Given the description of an element on the screen output the (x, y) to click on. 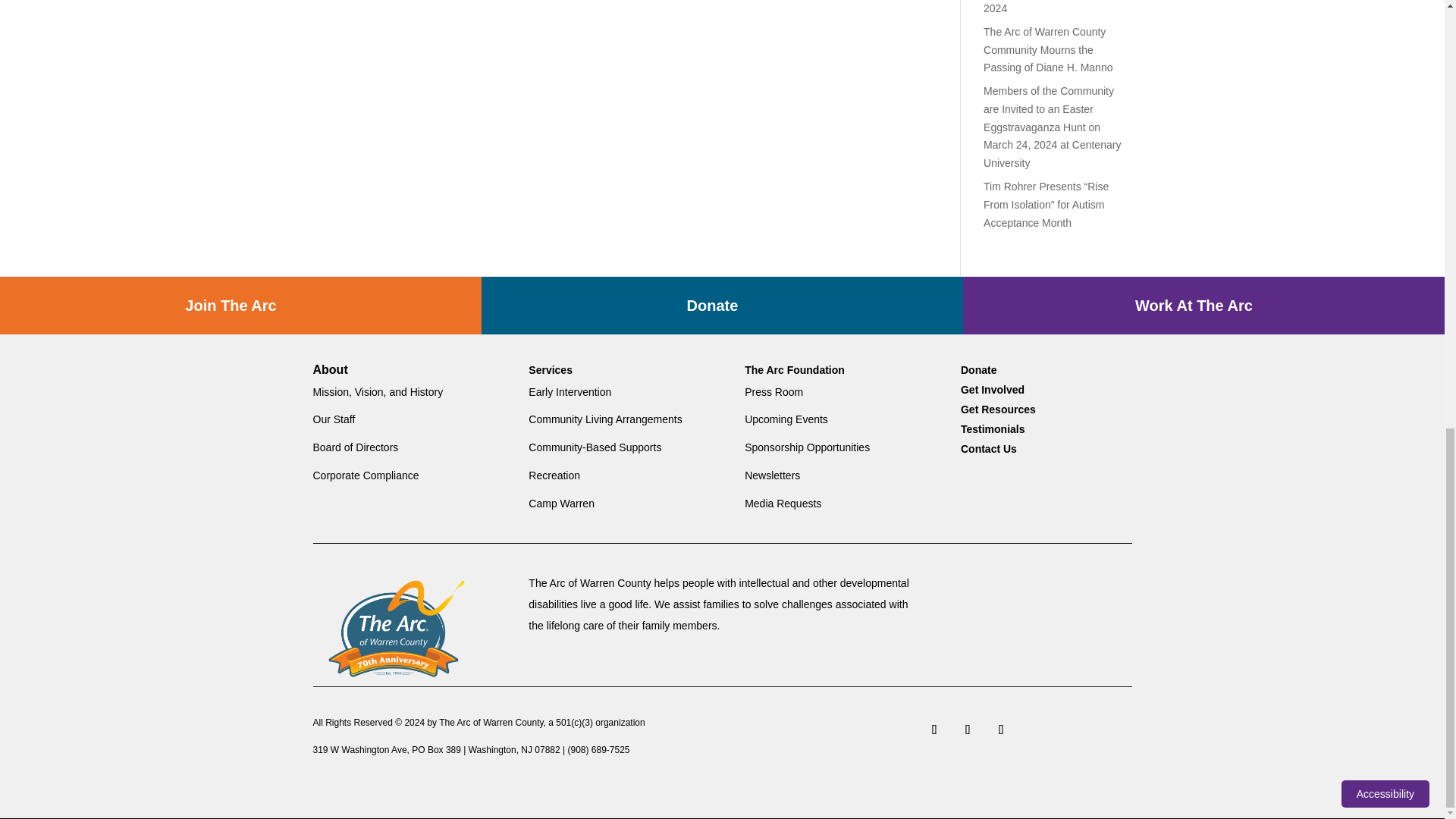
Follow on Facebook (933, 728)
Follow on LinkedIn (1000, 728)
Follow on Instagram (967, 728)
